Given the description of an element on the screen output the (x, y) to click on. 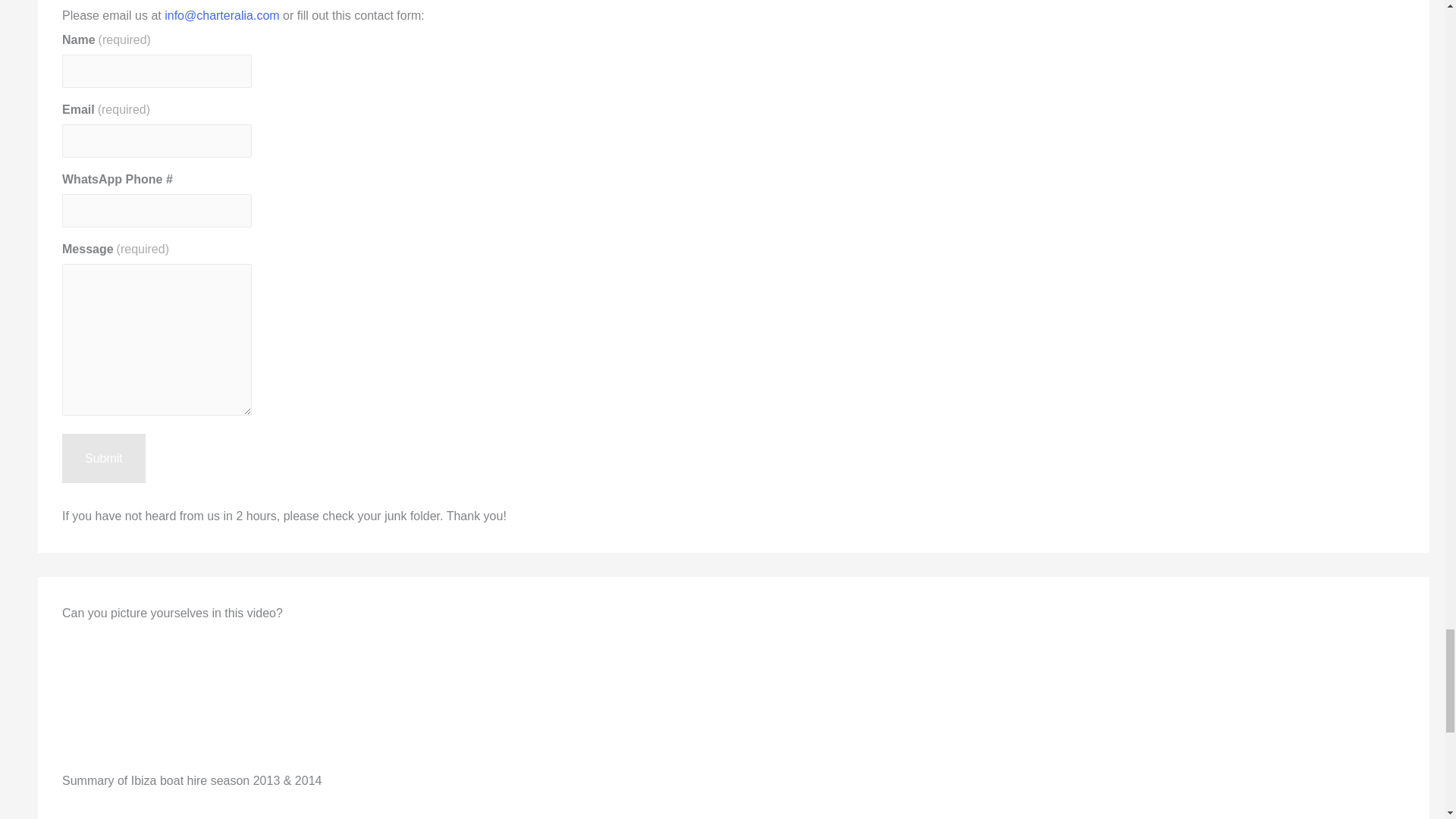
Submit (103, 459)
